Given the description of an element on the screen output the (x, y) to click on. 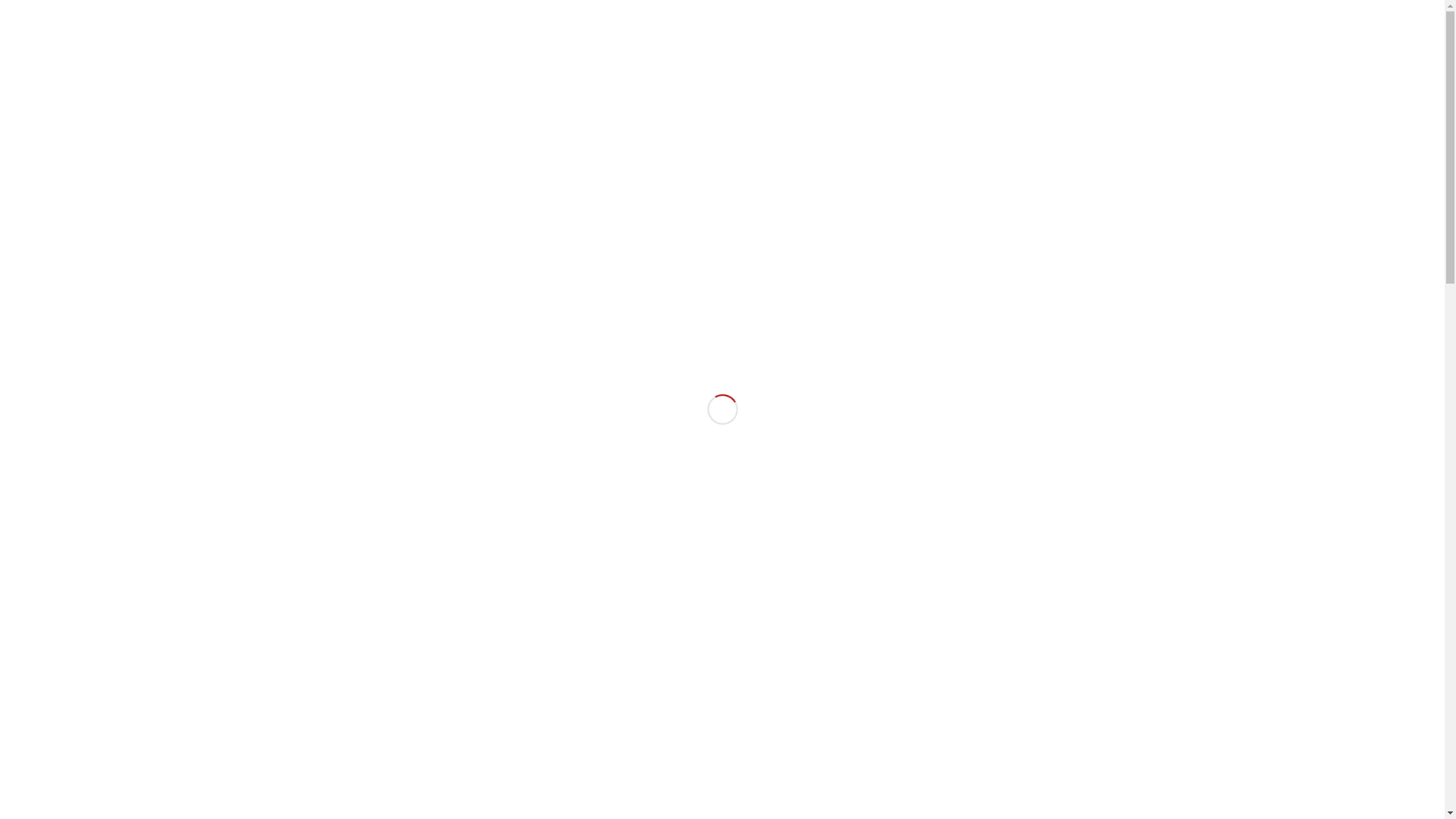
Resources Element type: text (1026, 67)
Who are we? Element type: text (646, 67)
Contact Us Element type: text (1150, 67)
Lebanon Element type: text (1090, 67)
Home Element type: text (581, 67)
fr Element type: text (1151, 10)
Dance Element type: text (709, 67)
Youtube Element type: hover (290, 11)
en Element type: text (1175, 10)
School Element type: text (816, 67)
Theatre Element type: text (763, 67)
Events Element type: text (968, 67)
Remembering Element type: hover (1062, 516)
Facebook Element type: hover (267, 11)
Services Element type: text (914, 67)
